Given the description of an element on the screen output the (x, y) to click on. 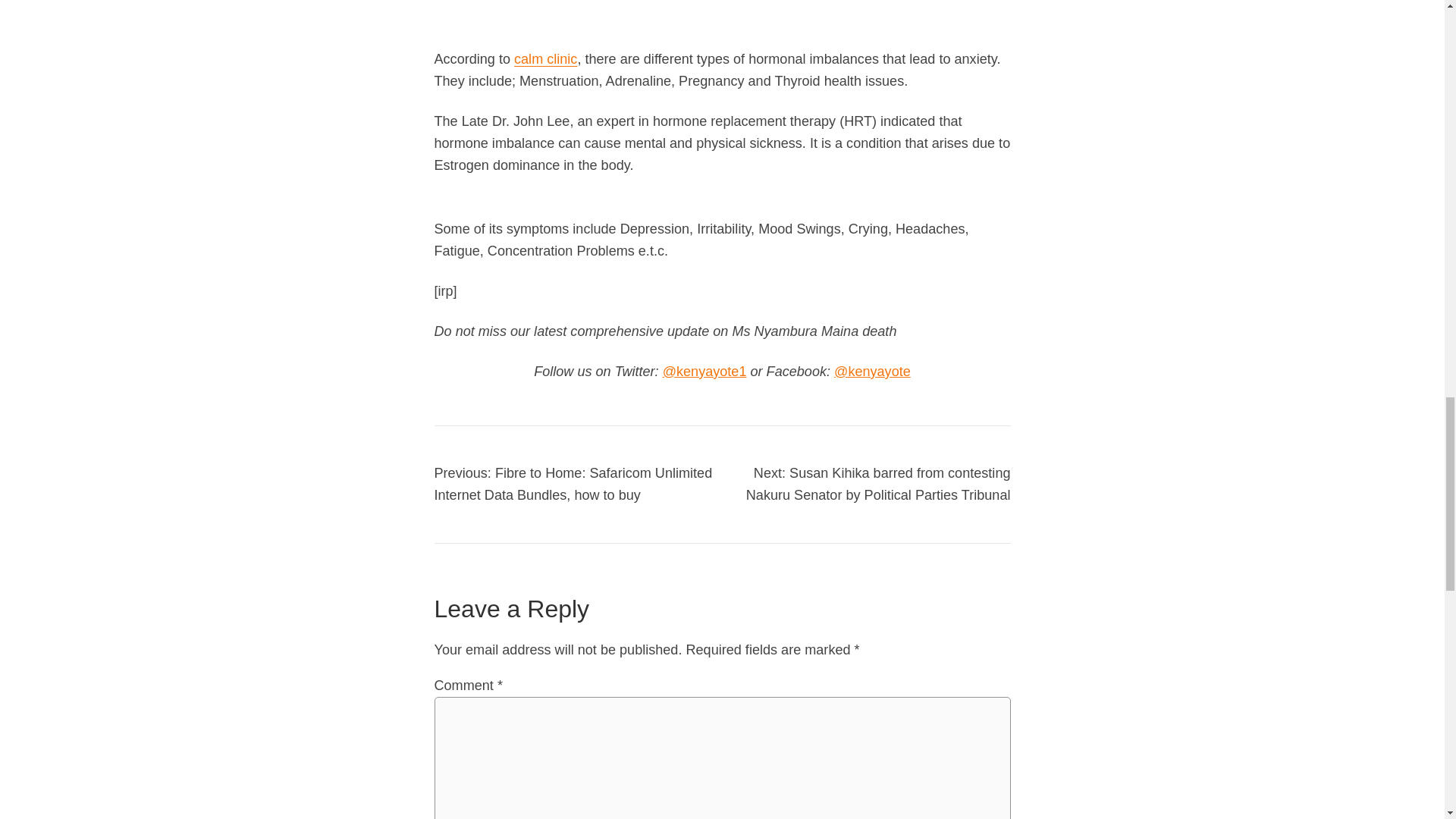
calm clinic (544, 58)
